Given the description of an element on the screen output the (x, y) to click on. 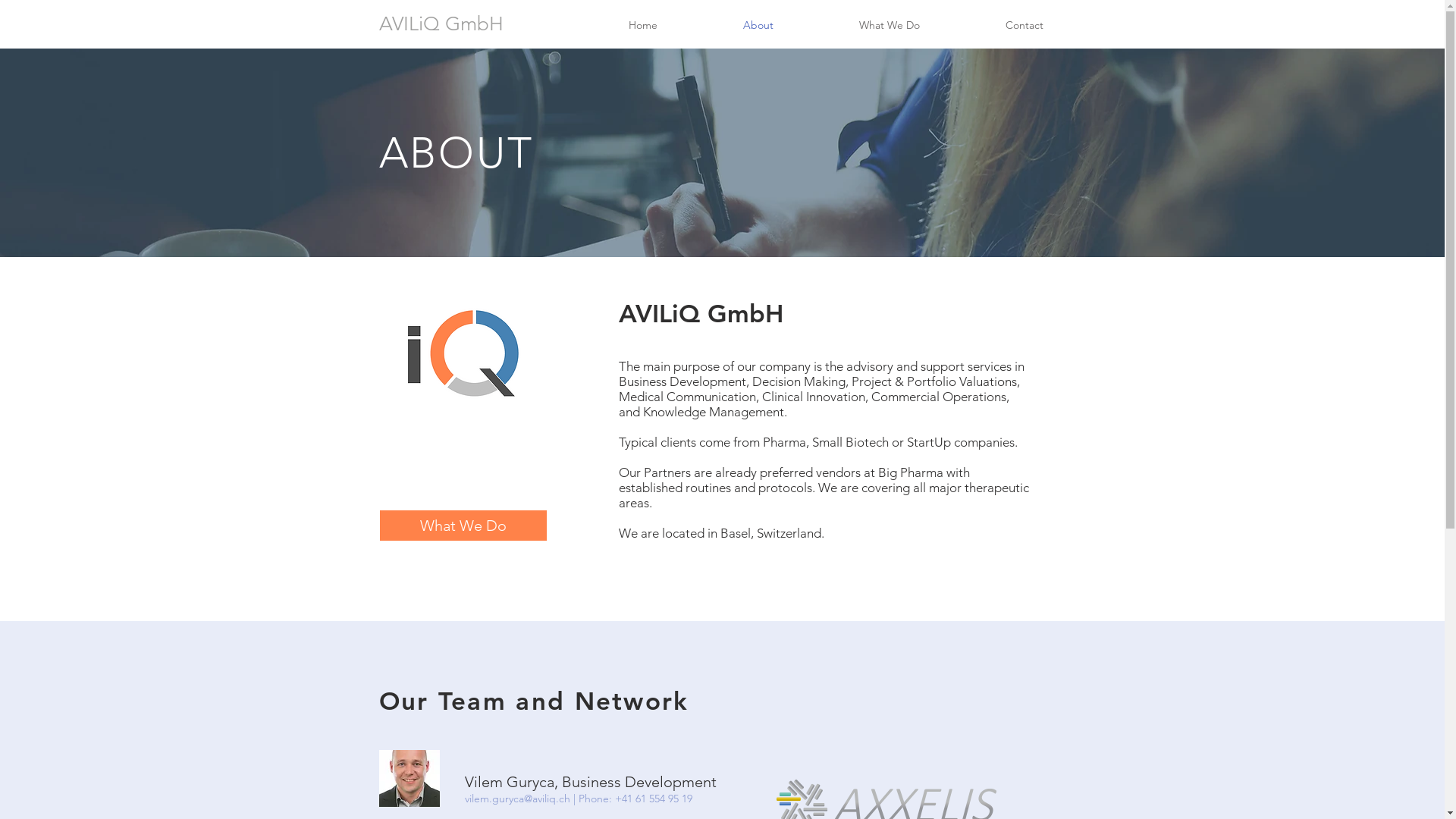
What We Do Element type: text (462, 525)
vilem.guryca@aviliq.ch Element type: text (516, 798)
About Element type: text (758, 25)
Contact Element type: text (1024, 25)
Home Element type: text (642, 25)
AVILiQ GmbH Element type: text (441, 23)
What We Do Element type: text (888, 25)
